Given the description of an element on the screen output the (x, y) to click on. 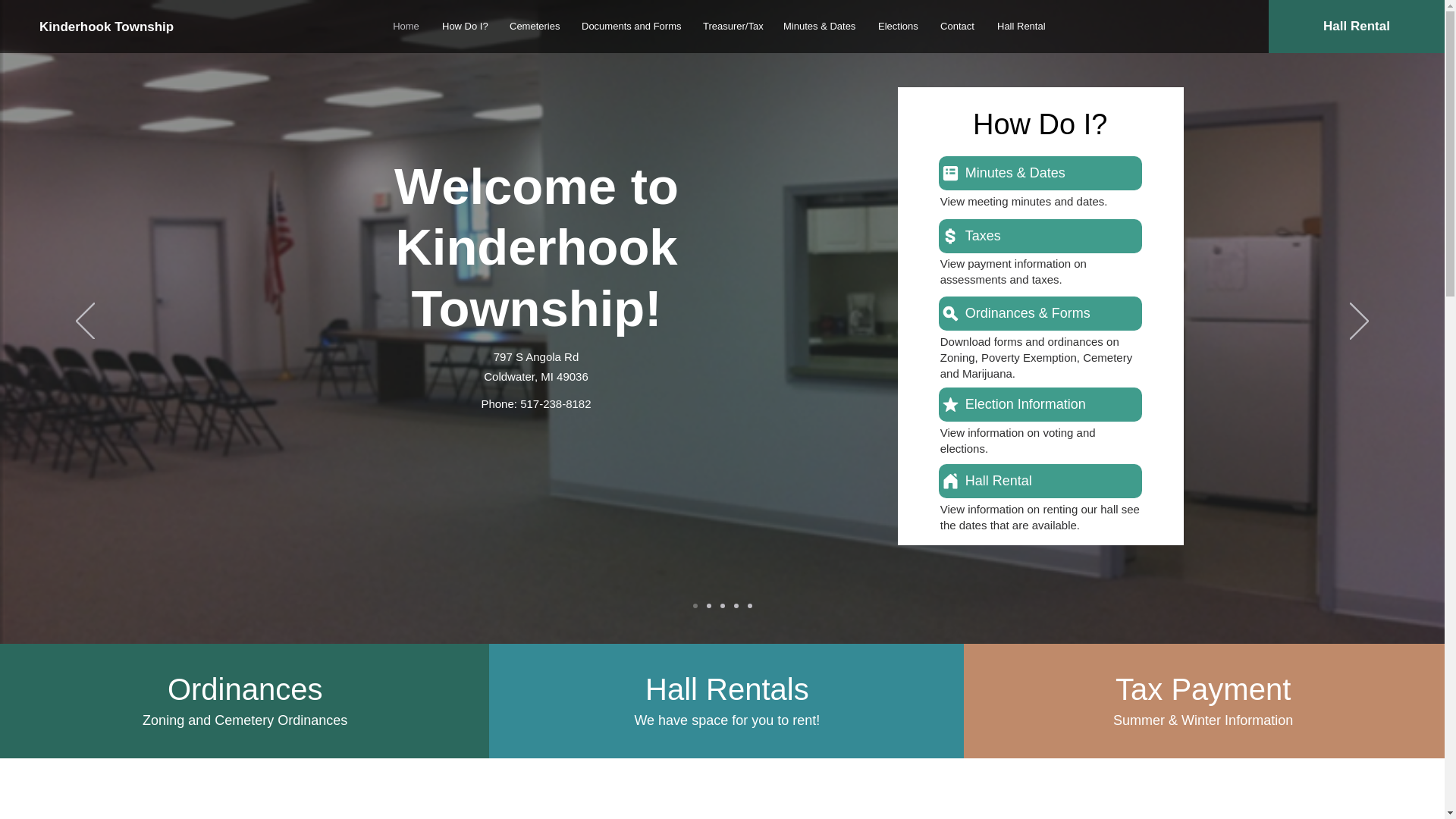
Contact (956, 26)
Cemeteries (533, 26)
Hall Rental (1040, 480)
797 S Angola Rd (536, 356)
Taxes (1040, 236)
Tax Payment (1202, 689)
Hall Rental (1019, 26)
Ordinances (245, 689)
Kinderhook Township (112, 26)
Coldwater, MI 49036 (535, 376)
